Given the description of an element on the screen output the (x, y) to click on. 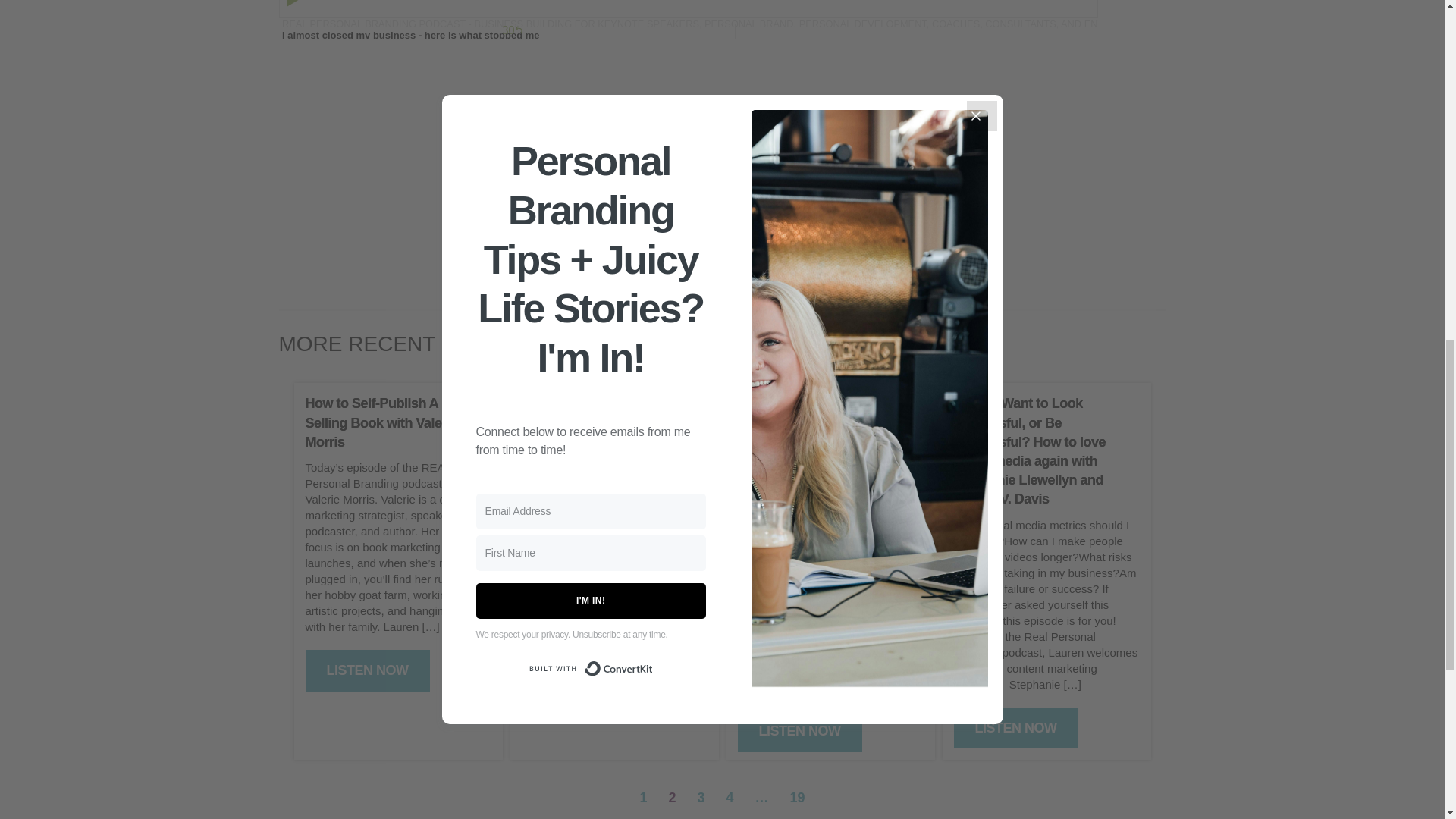
LISTEN NOW (583, 635)
19 (797, 798)
LISTEN NOW (366, 670)
LISTEN NOW (798, 731)
LISTEN NOW (1015, 728)
